Given the description of an element on the screen output the (x, y) to click on. 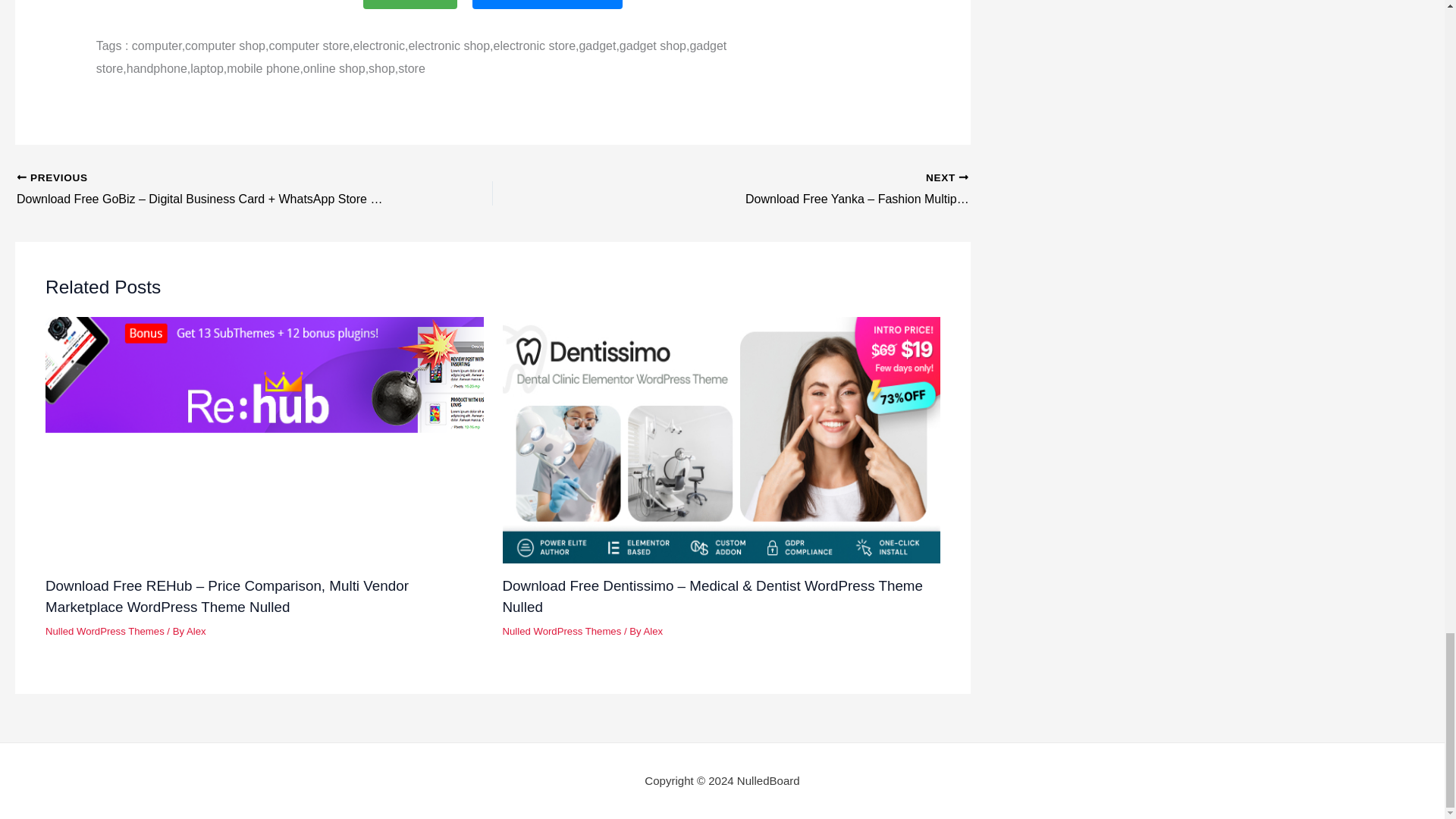
Nulled WordPress Themes (104, 631)
Alex (652, 631)
Alex (196, 631)
Live Demo (409, 4)
View all posts by Alex (652, 631)
View all posts by Alex (196, 631)
Nulled WordPress Themes (561, 631)
